Given the description of an element on the screen output the (x, y) to click on. 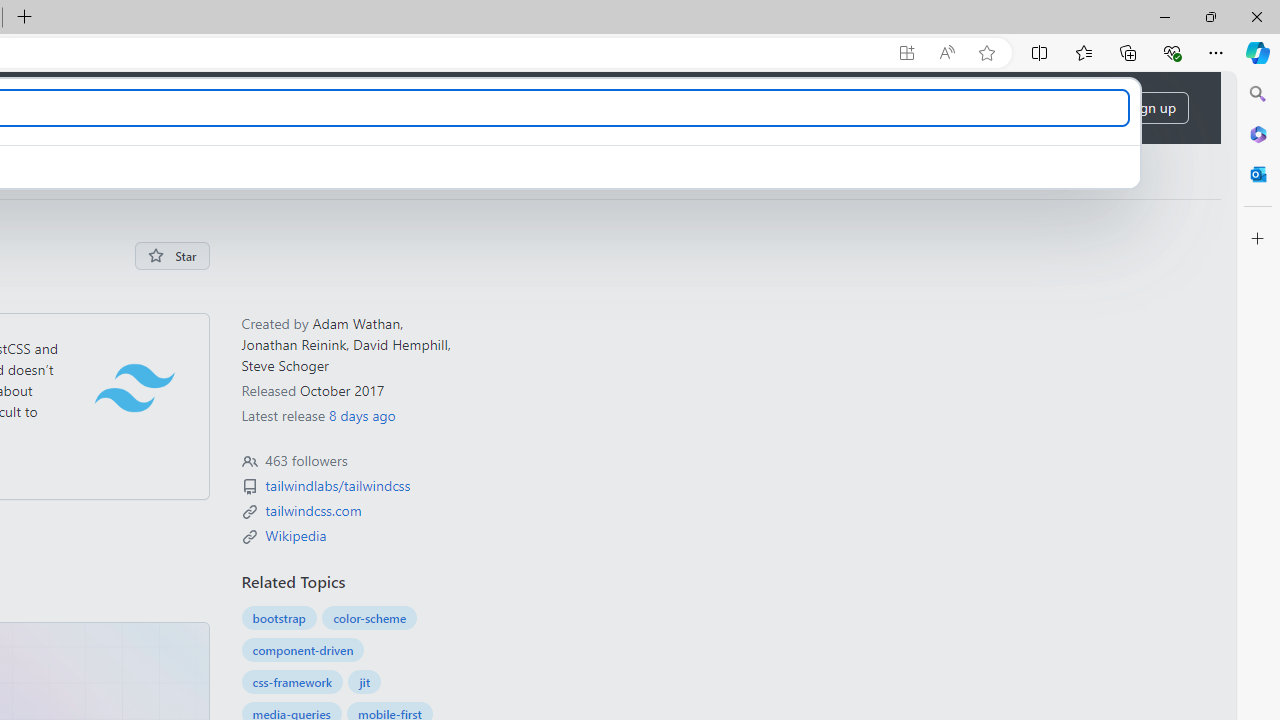
color-scheme (370, 618)
8 days ago (361, 415)
App available. Install GitHub (906, 53)
jit (364, 682)
tailwindlabs/tailwindcss (337, 485)
Topic followers (249, 462)
tailwind logo (134, 387)
